Given the description of an element on the screen output the (x, y) to click on. 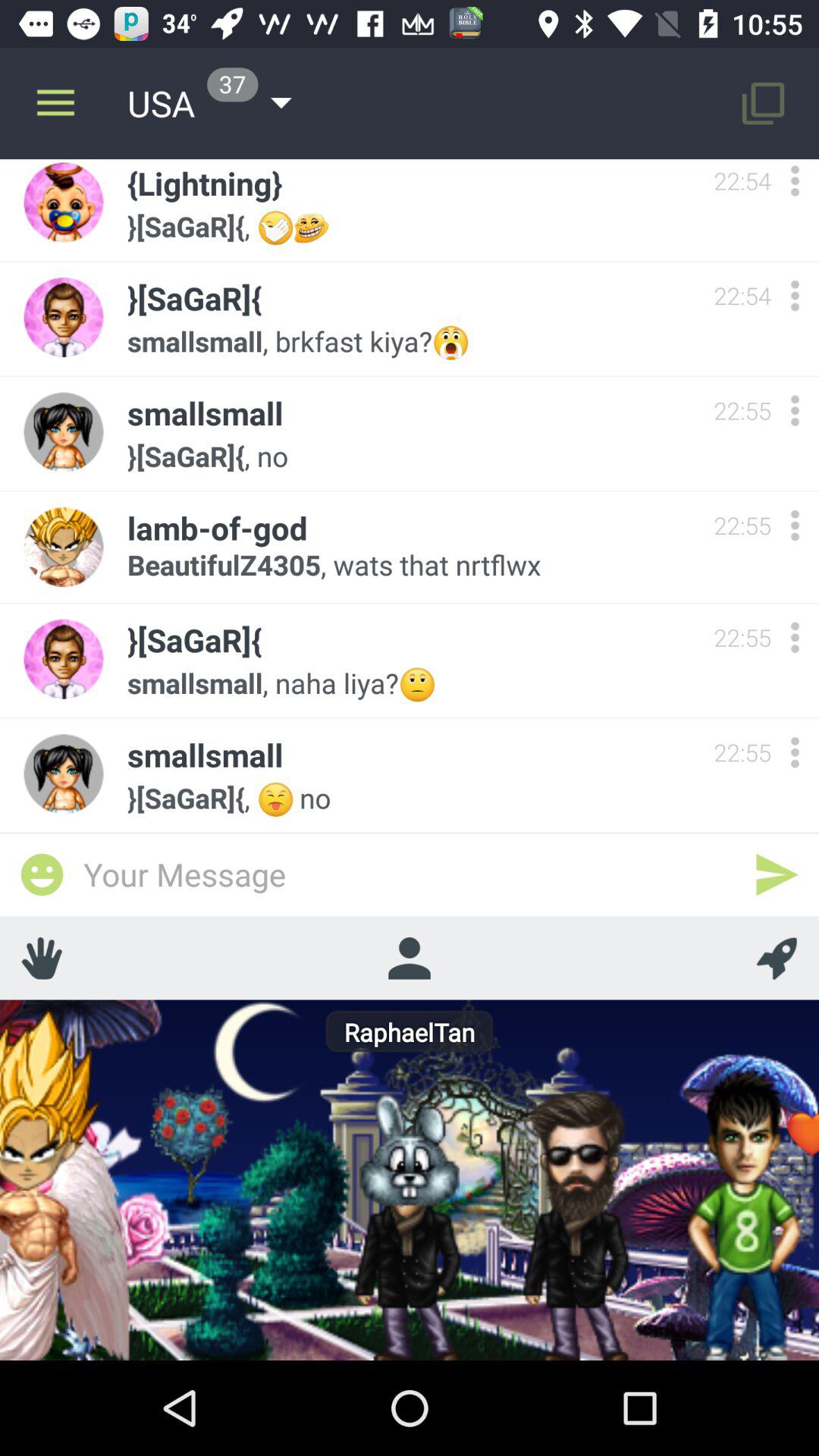
more informations (795, 637)
